Given the description of an element on the screen output the (x, y) to click on. 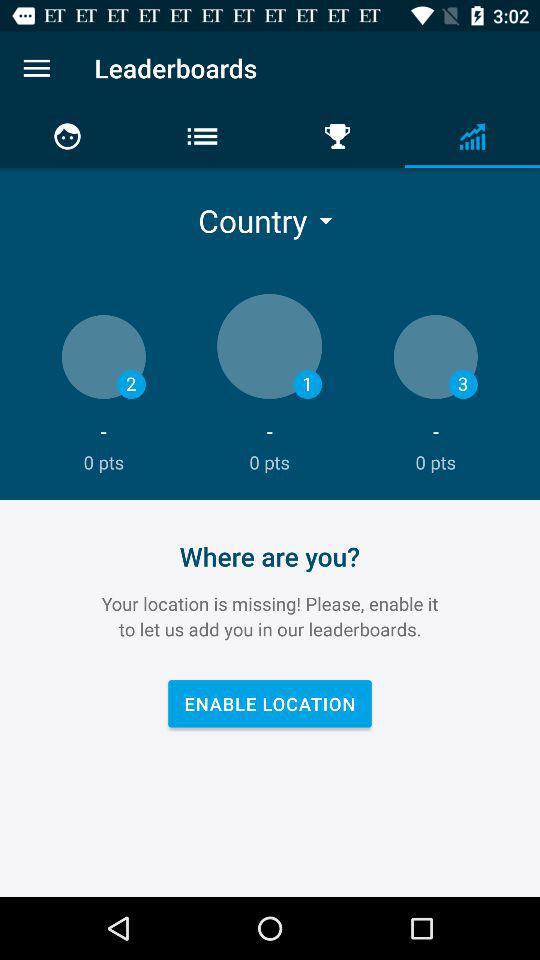
turn on the icon next to leaderboards item (36, 68)
